Given the description of an element on the screen output the (x, y) to click on. 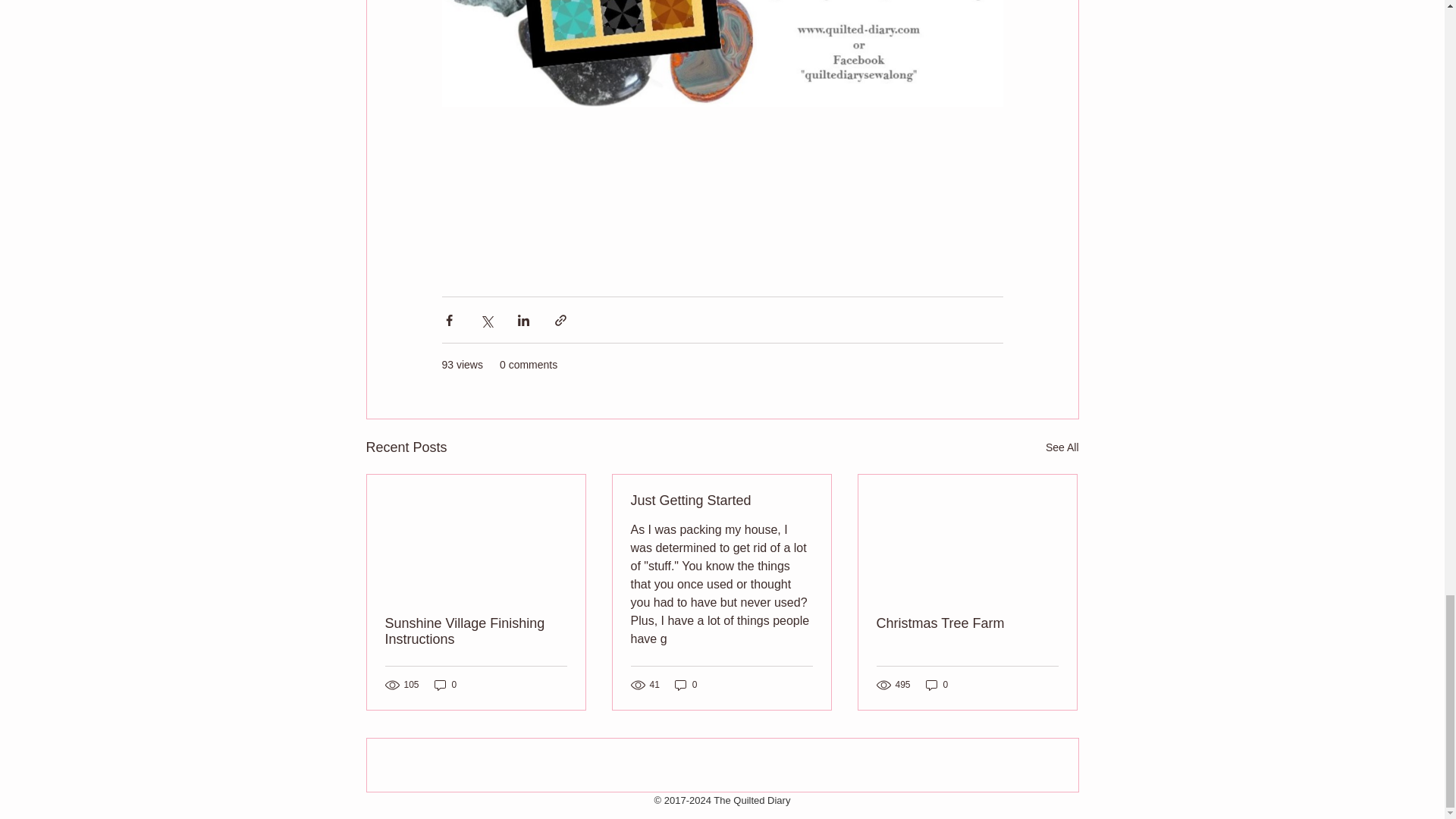
Sunshine Village Finishing Instructions (476, 631)
0 (445, 685)
0 (937, 685)
See All (1061, 447)
Christmas Tree Farm (967, 623)
Just Getting Started (721, 500)
0 (685, 685)
